Given the description of an element on the screen output the (x, y) to click on. 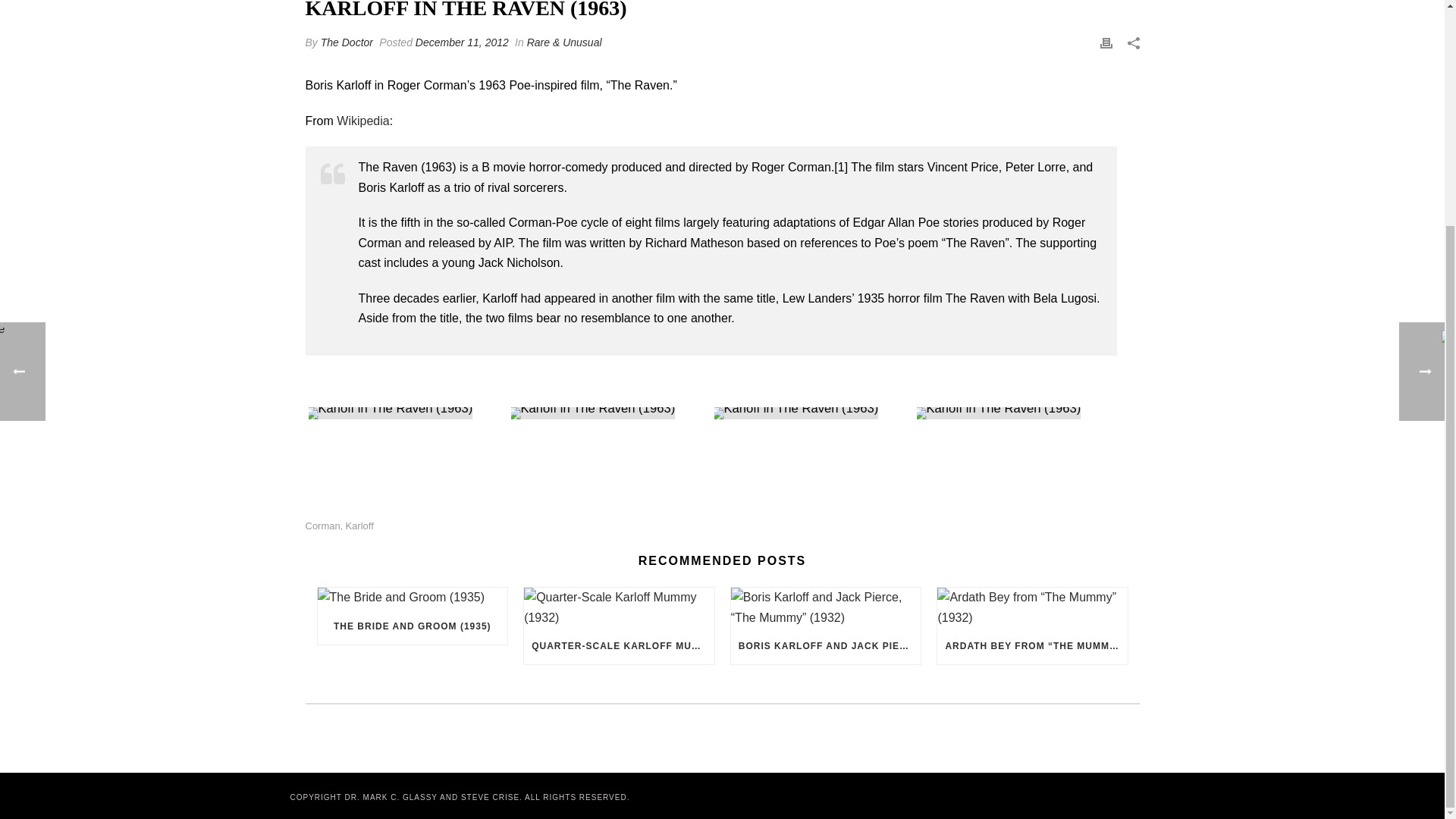
Posts by The Doctor (346, 42)
December 11, 2012 (461, 42)
The Doctor (346, 42)
Karloff (358, 525)
Wikipedia (362, 120)
Corman (321, 525)
